Given the description of an element on the screen output the (x, y) to click on. 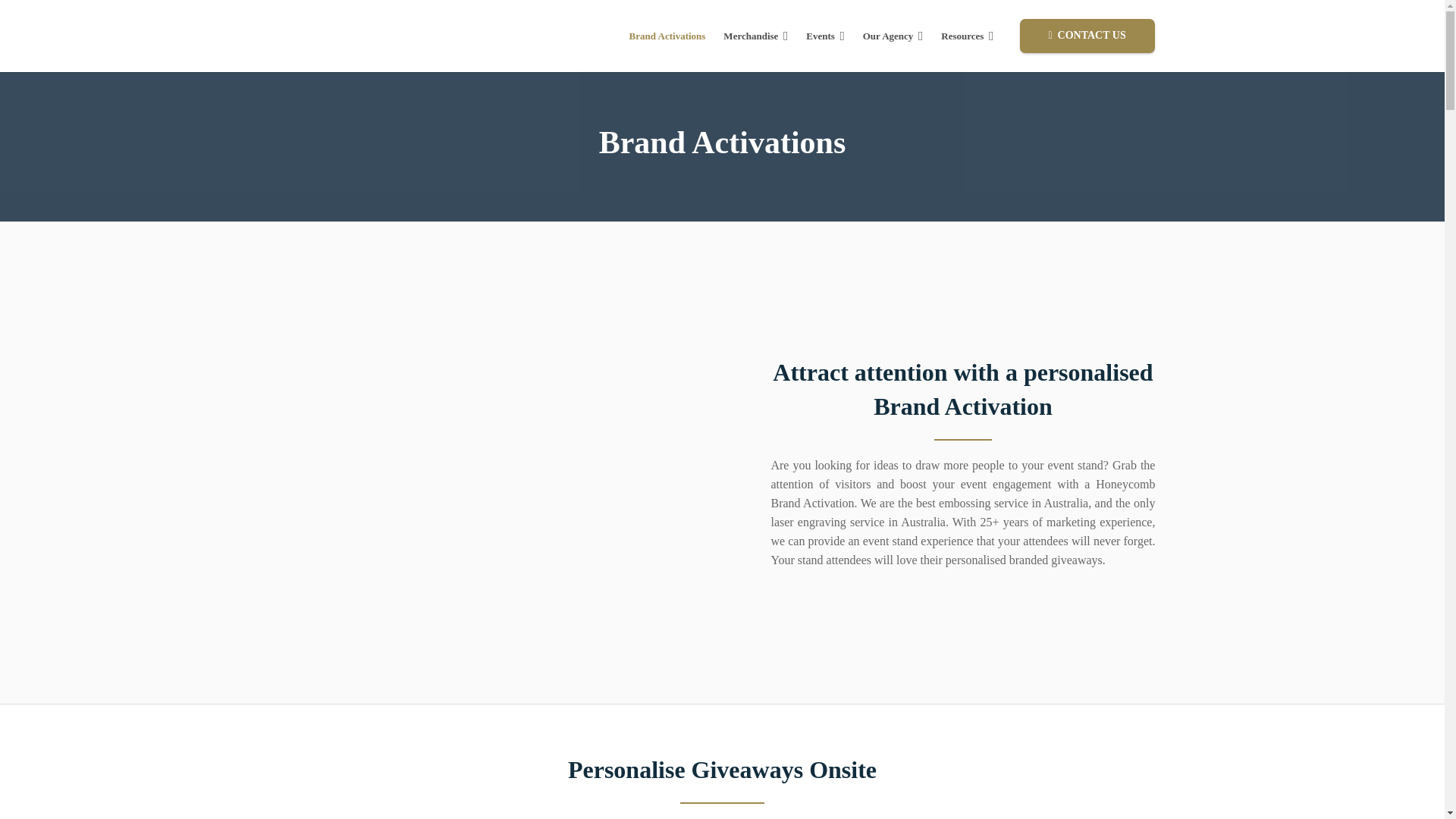
Merchandise (755, 36)
Our Agency (893, 36)
CONTACT US (1087, 35)
Resources (967, 36)
Brand Activations (667, 36)
